Given the description of an element on the screen output the (x, y) to click on. 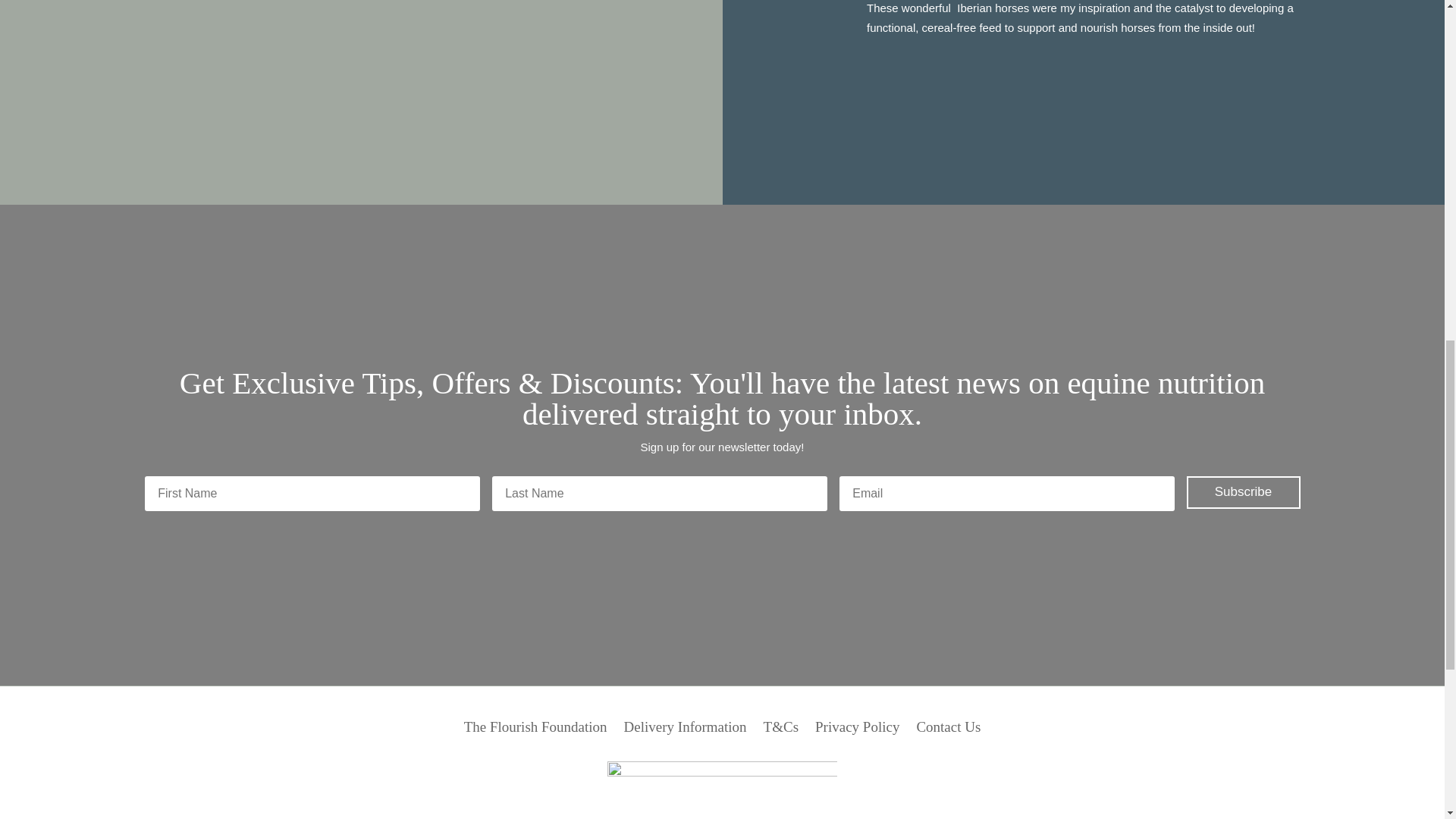
Privacy Policy (857, 729)
Delivery Information (685, 729)
Contact Us (947, 729)
Flourish-colour-logo (721, 790)
The Flourish Foundation (535, 729)
Subscribe (1243, 491)
